Given the description of an element on the screen output the (x, y) to click on. 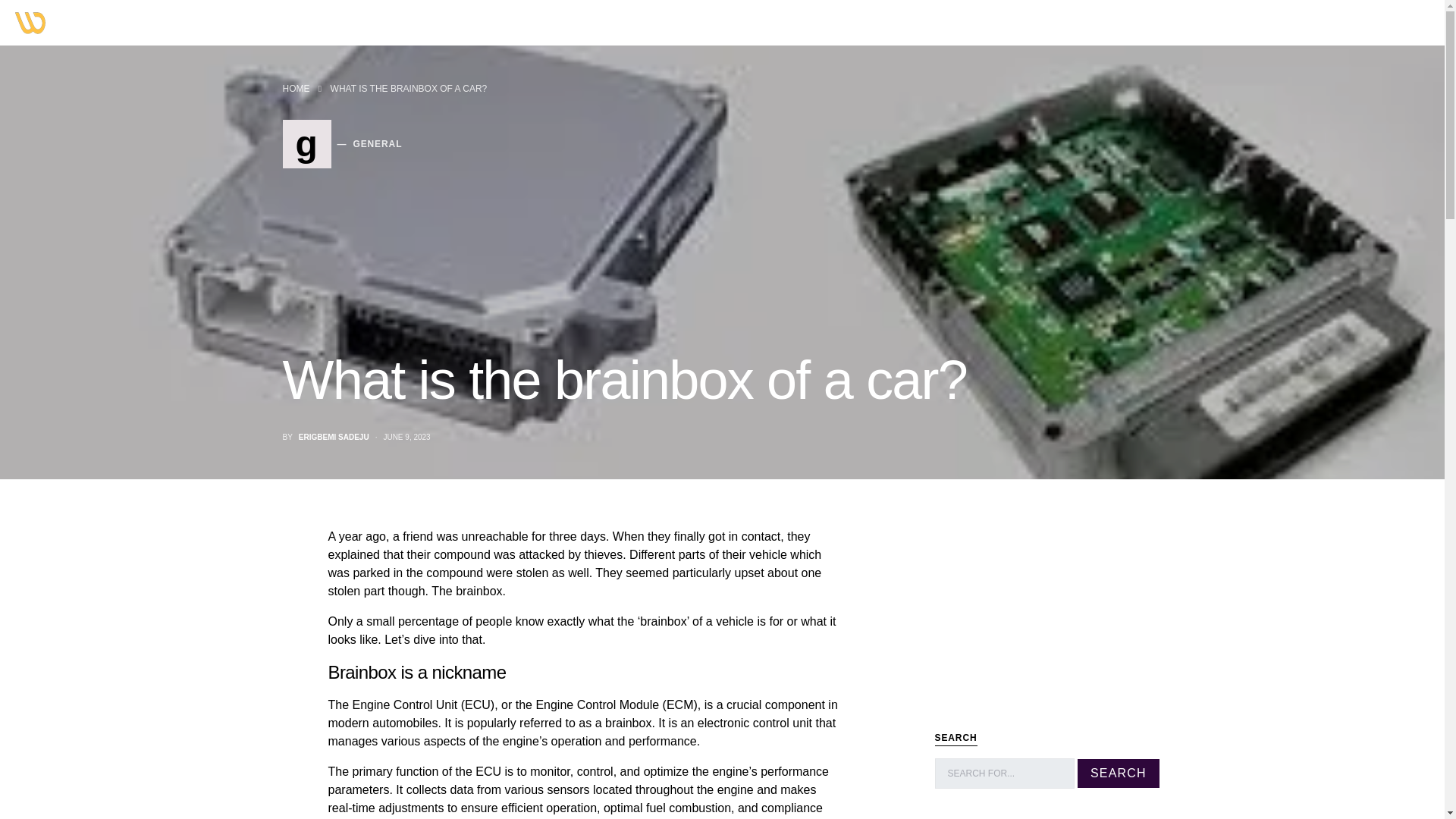
Search (1117, 773)
HOME (295, 88)
Search (1117, 773)
View all posts by Erigbemi Sadeju (341, 143)
ERIGBEMI SADEJU (333, 436)
POSTS (333, 436)
DOWNLOAD WHISTLE APP (130, 22)
HOME (219, 22)
